Given the description of an element on the screen output the (x, y) to click on. 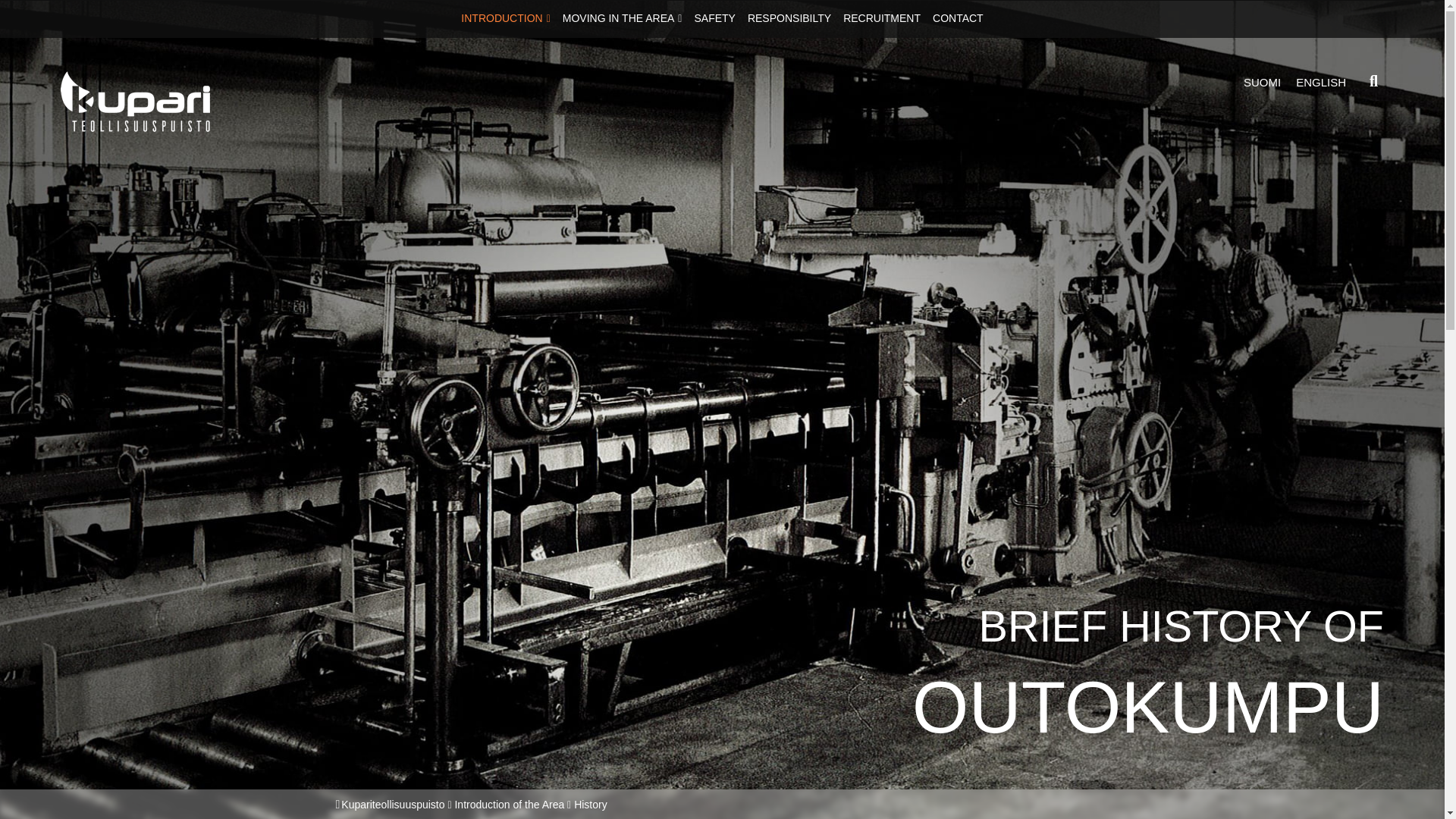
SUOMI (1262, 82)
CONTACT (958, 18)
RECRUITMENT (881, 18)
RESPONSIBILTY (789, 18)
INTRODUCTION (505, 18)
Kupariteollisuuspuisto (392, 804)
MOVING IN THE AREA (622, 18)
ENGLISH (1321, 82)
SAFETY (714, 18)
